Given the description of an element on the screen output the (x, y) to click on. 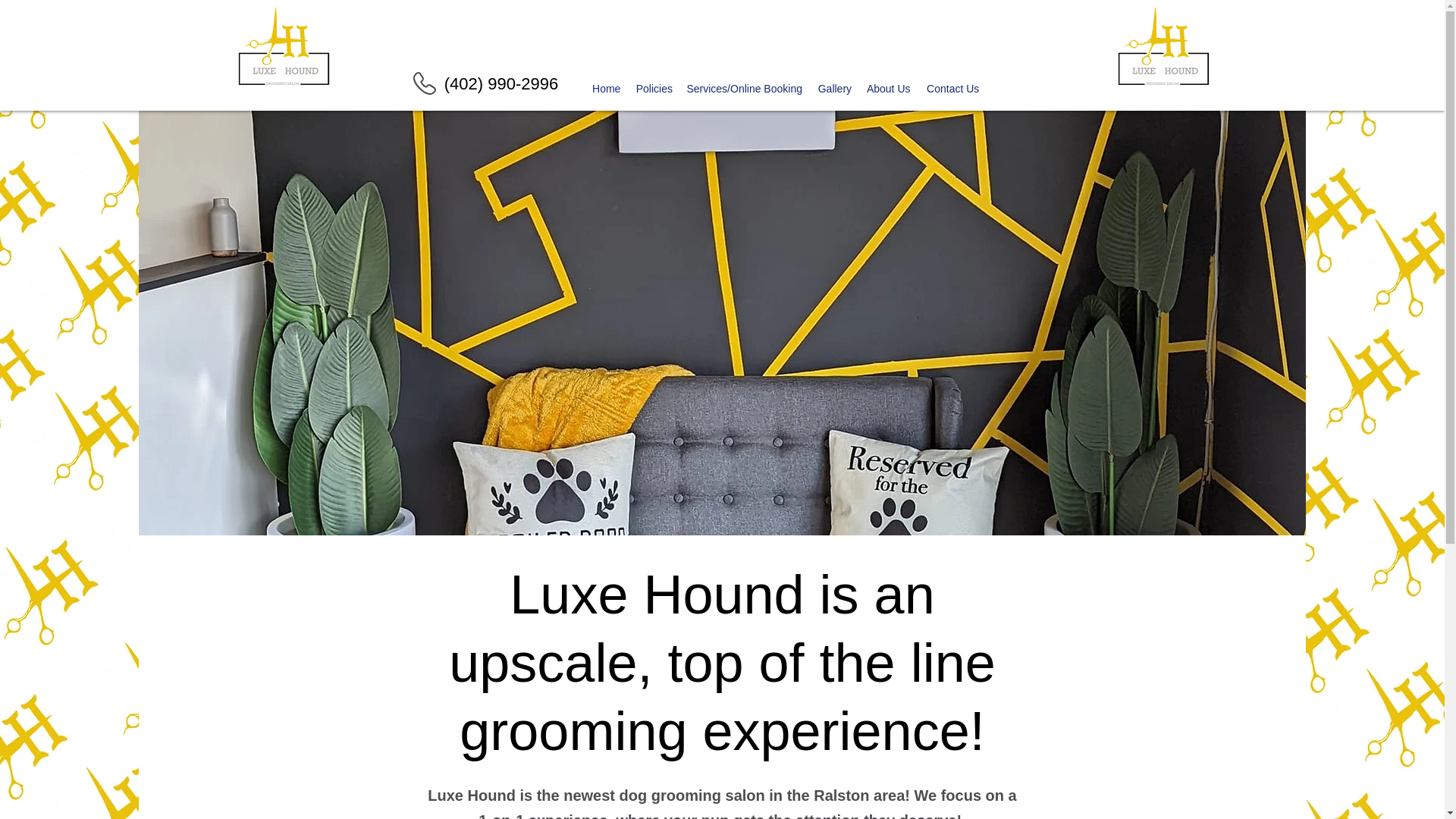
Policies (653, 89)
Gallery (834, 89)
Home (606, 89)
About Us (888, 89)
Contact Us (952, 89)
